Given the description of an element on the screen output the (x, y) to click on. 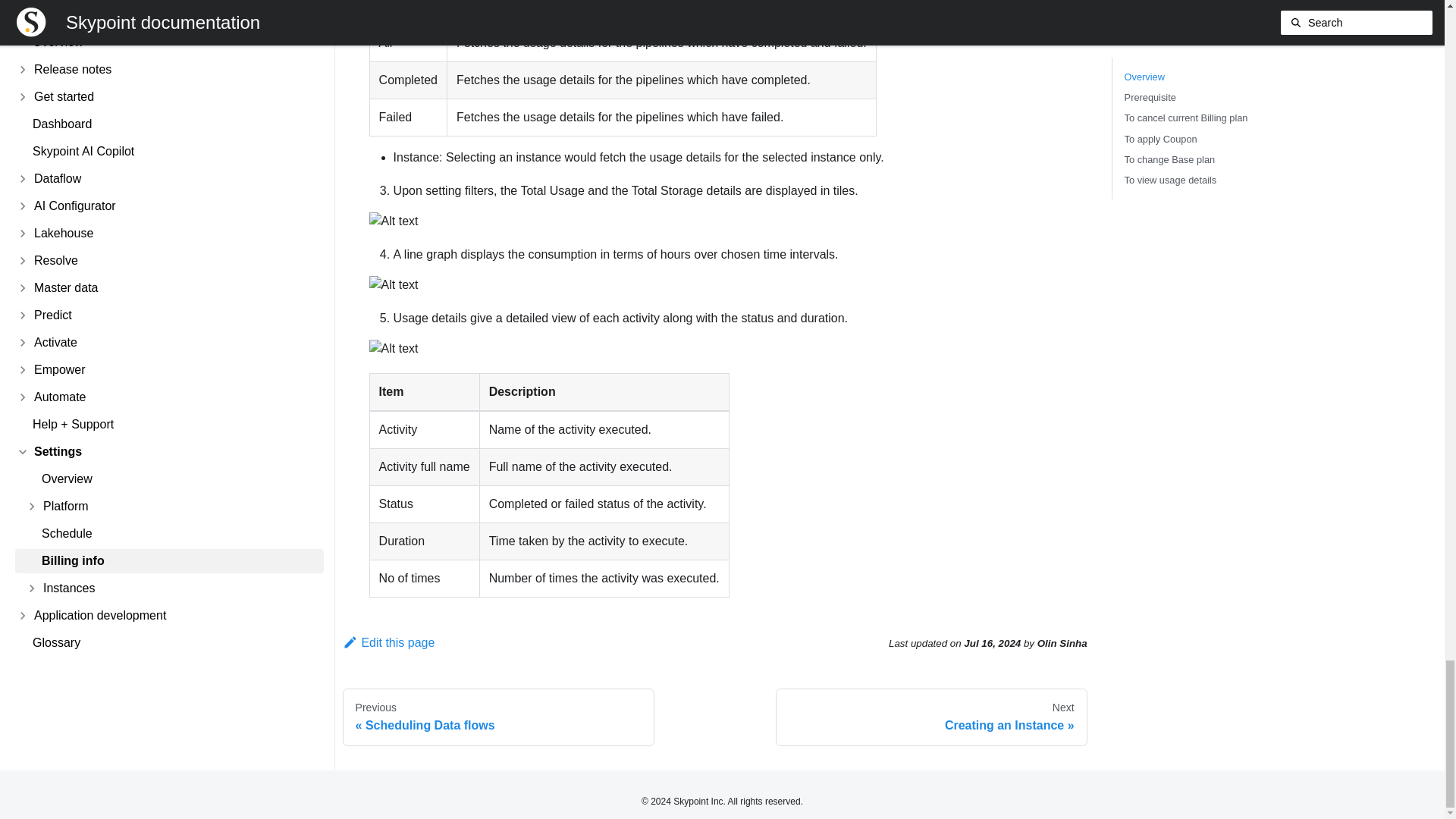
Edit this page (931, 717)
